Given the description of an element on the screen output the (x, y) to click on. 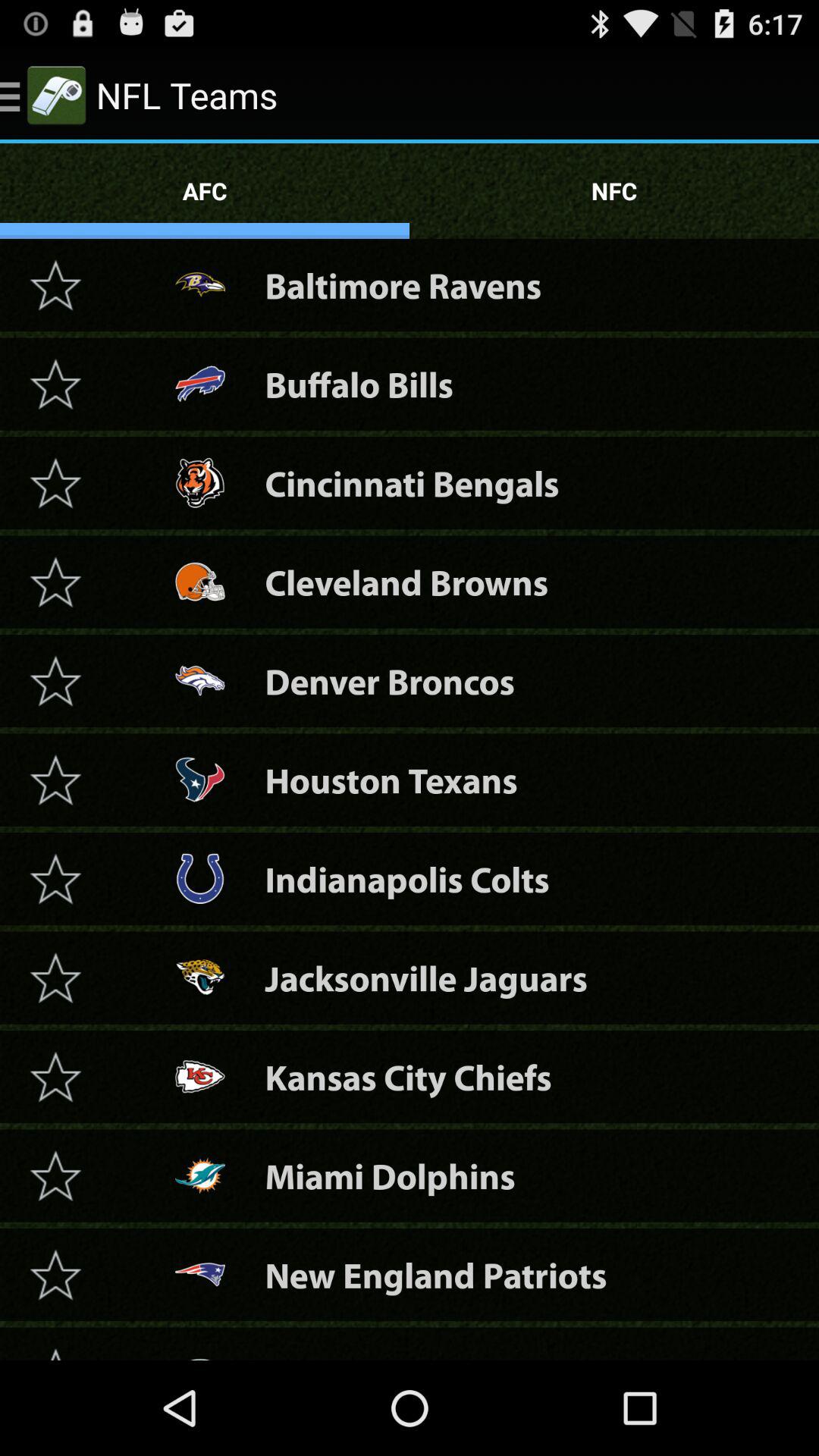
make it starred (55, 1274)
